Given the description of an element on the screen output the (x, y) to click on. 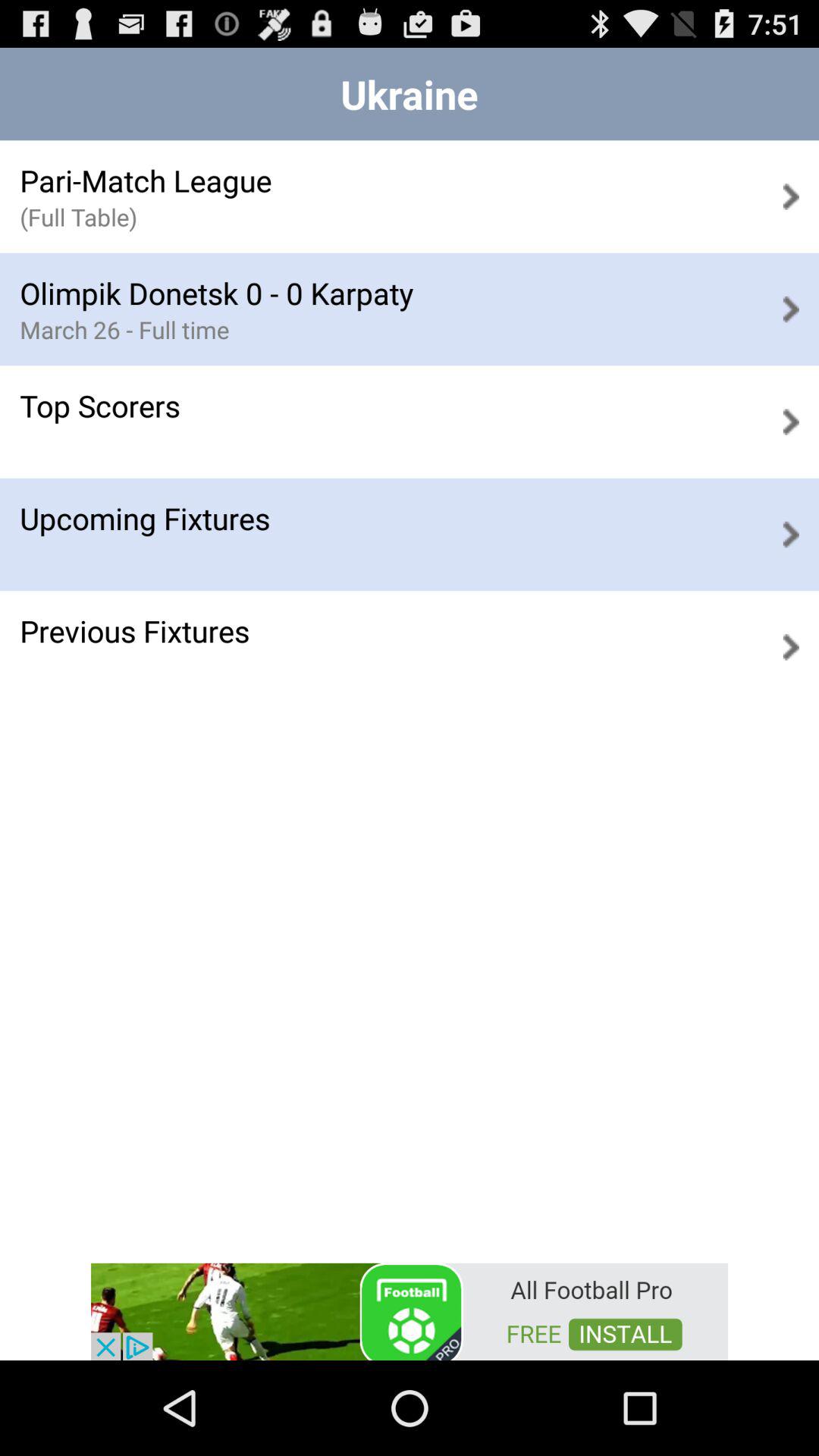
install external app (409, 1310)
